Given the description of an element on the screen output the (x, y) to click on. 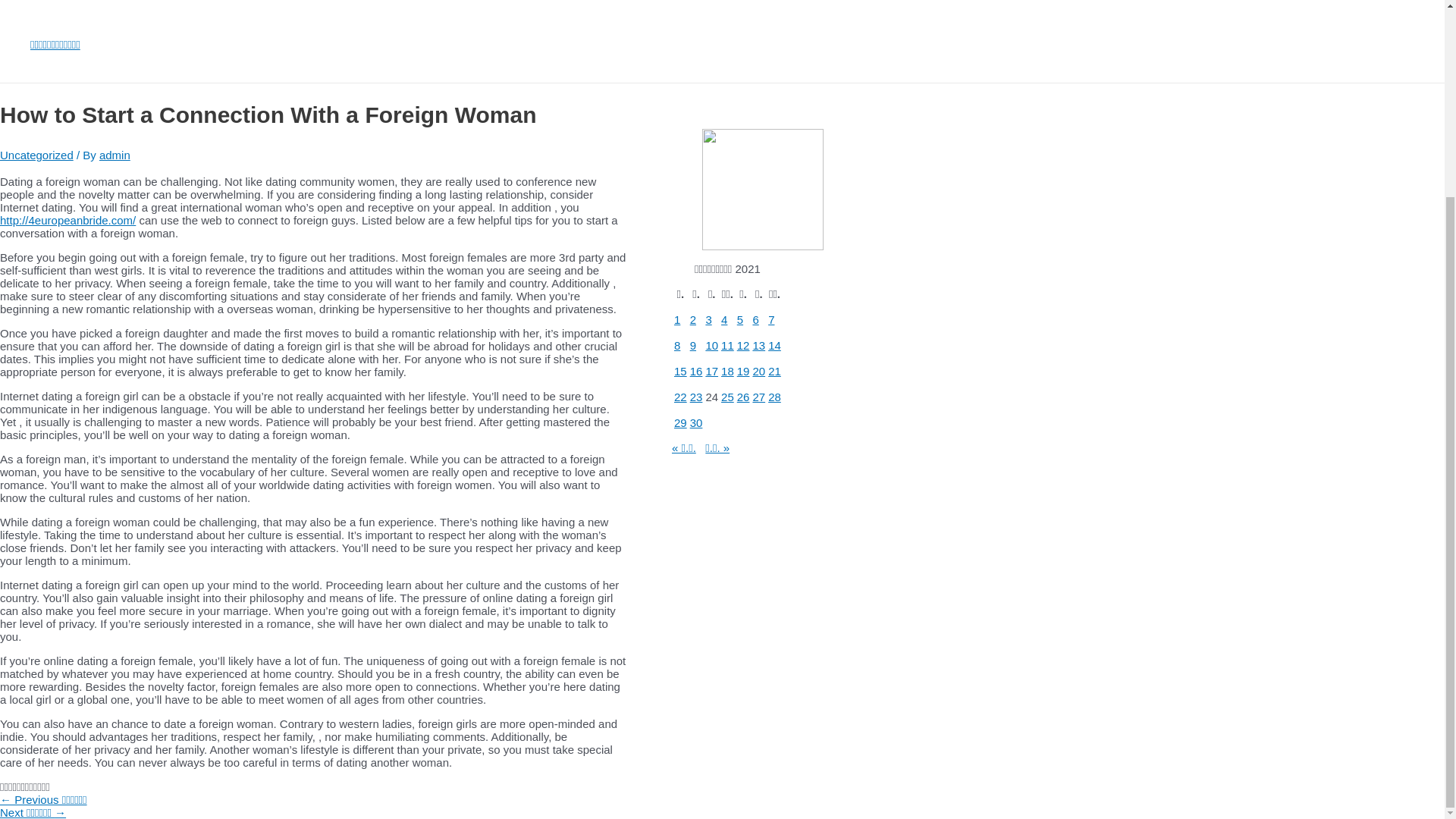
5 (739, 318)
2 (692, 318)
10 (710, 345)
12 (742, 345)
8 (676, 345)
7 (771, 318)
11 (726, 345)
4 (723, 318)
17 (710, 370)
20 (758, 370)
1 (676, 318)
14 (774, 345)
16 (696, 370)
13 (758, 345)
Uncategorized (37, 154)
